Given the description of an element on the screen output the (x, y) to click on. 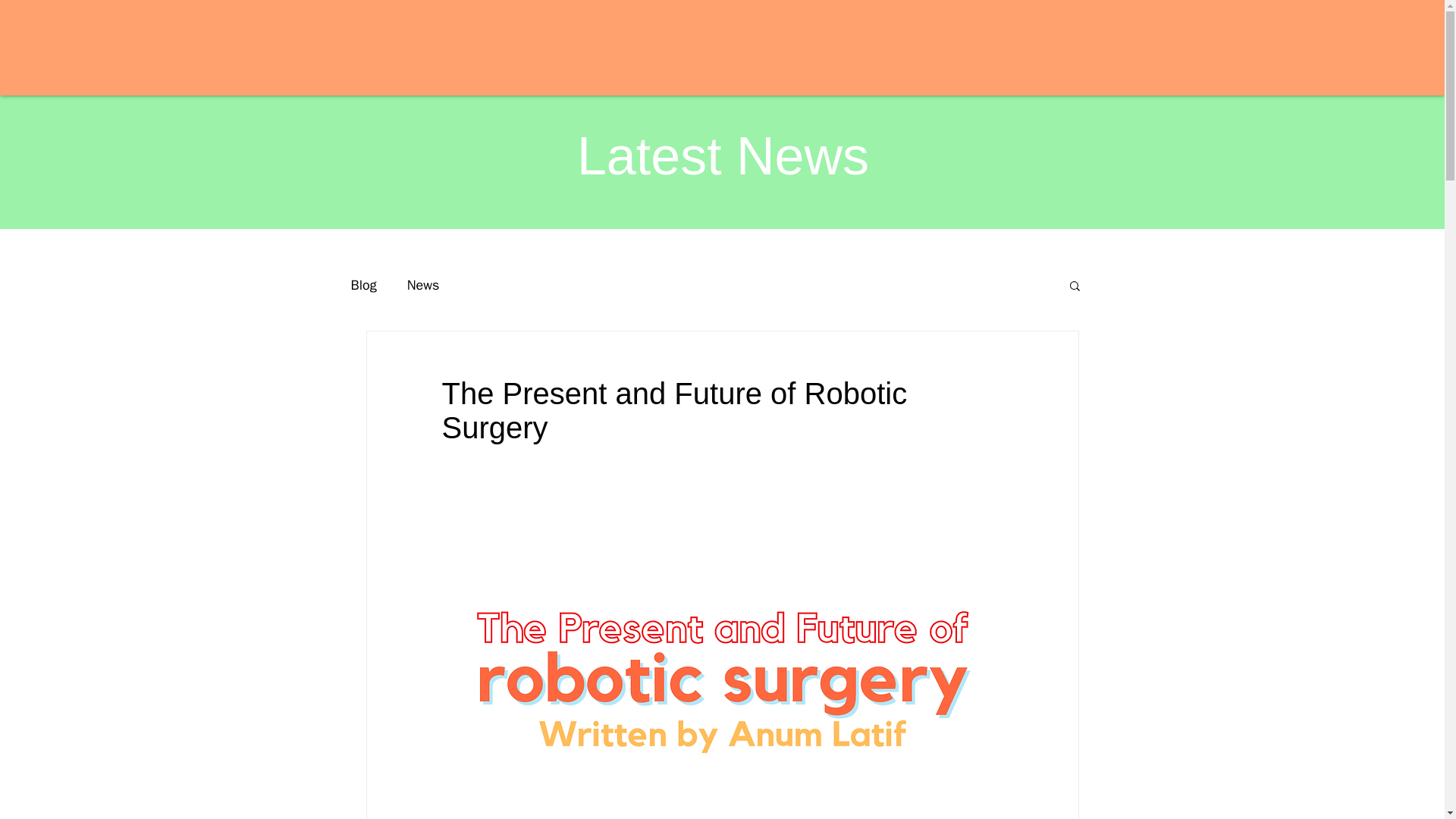
Blog (362, 285)
News (423, 285)
